Given the description of an element on the screen output the (x, y) to click on. 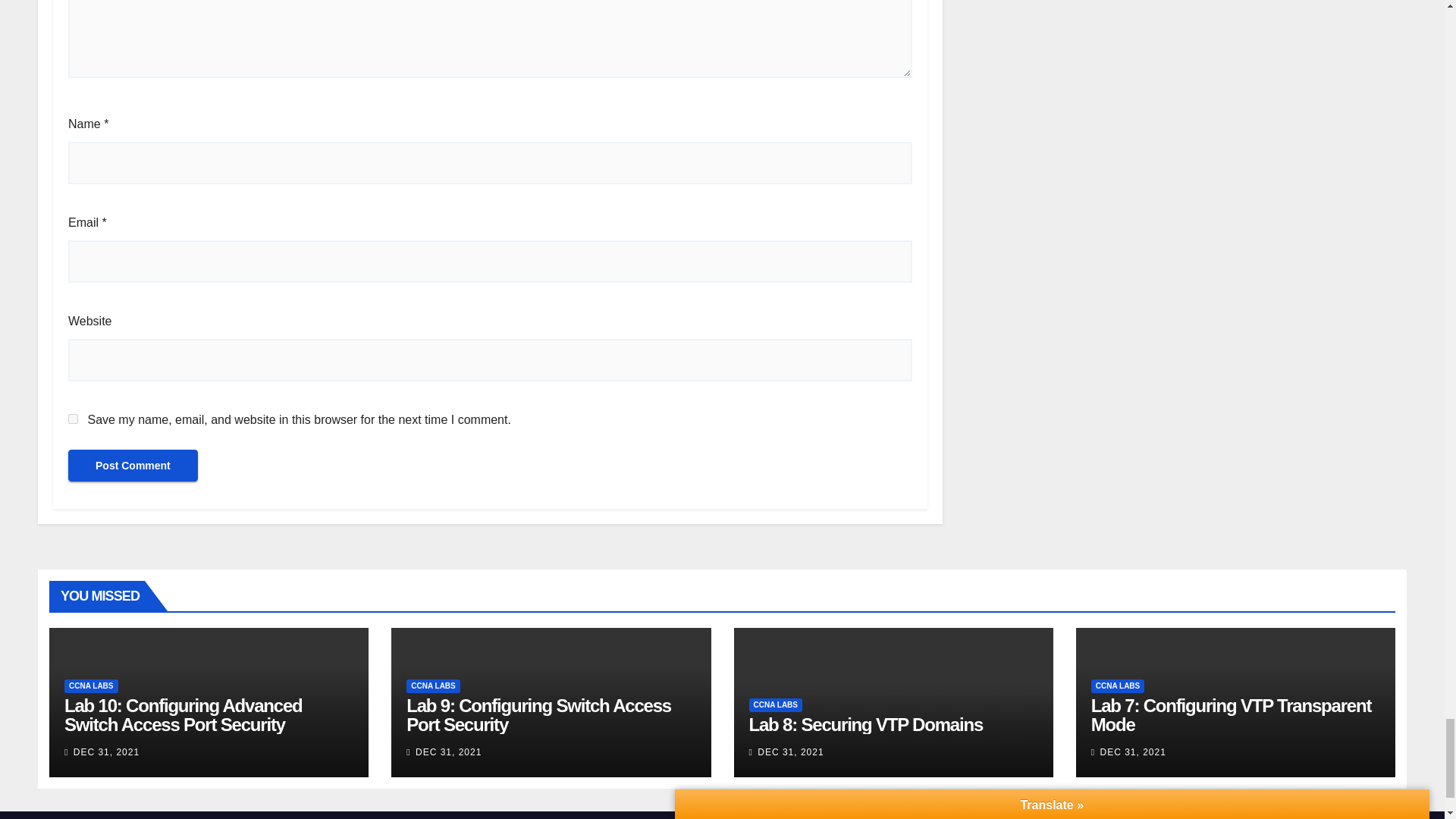
yes (73, 419)
CCNA LABS (90, 685)
Post Comment (133, 465)
Post Comment (133, 465)
